Given the description of an element on the screen output the (x, y) to click on. 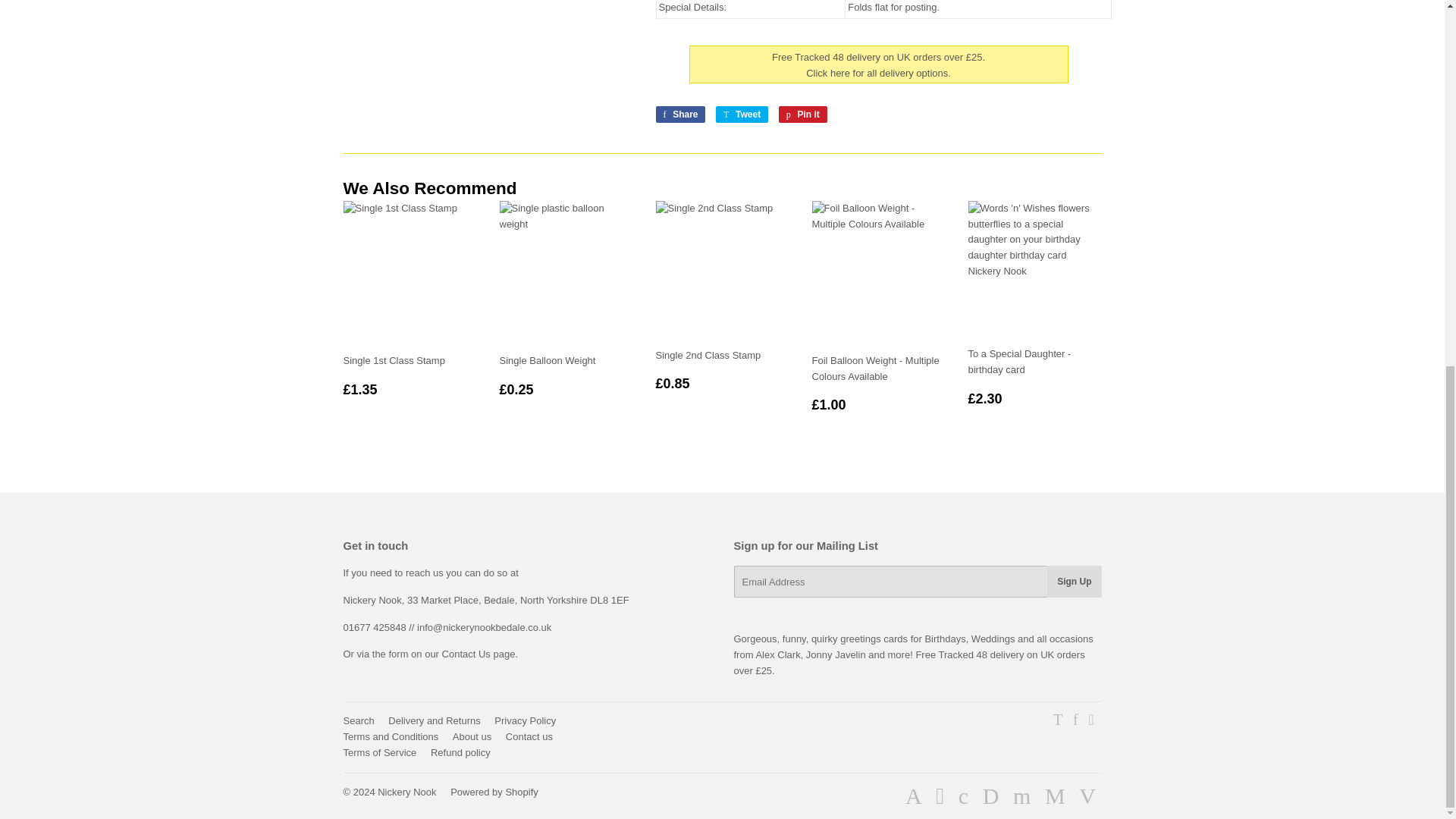
Tweet on Twitter (742, 114)
Pin on Pinterest (802, 114)
Share on Facebook (679, 114)
Contact us (478, 654)
